Given the description of an element on the screen output the (x, y) to click on. 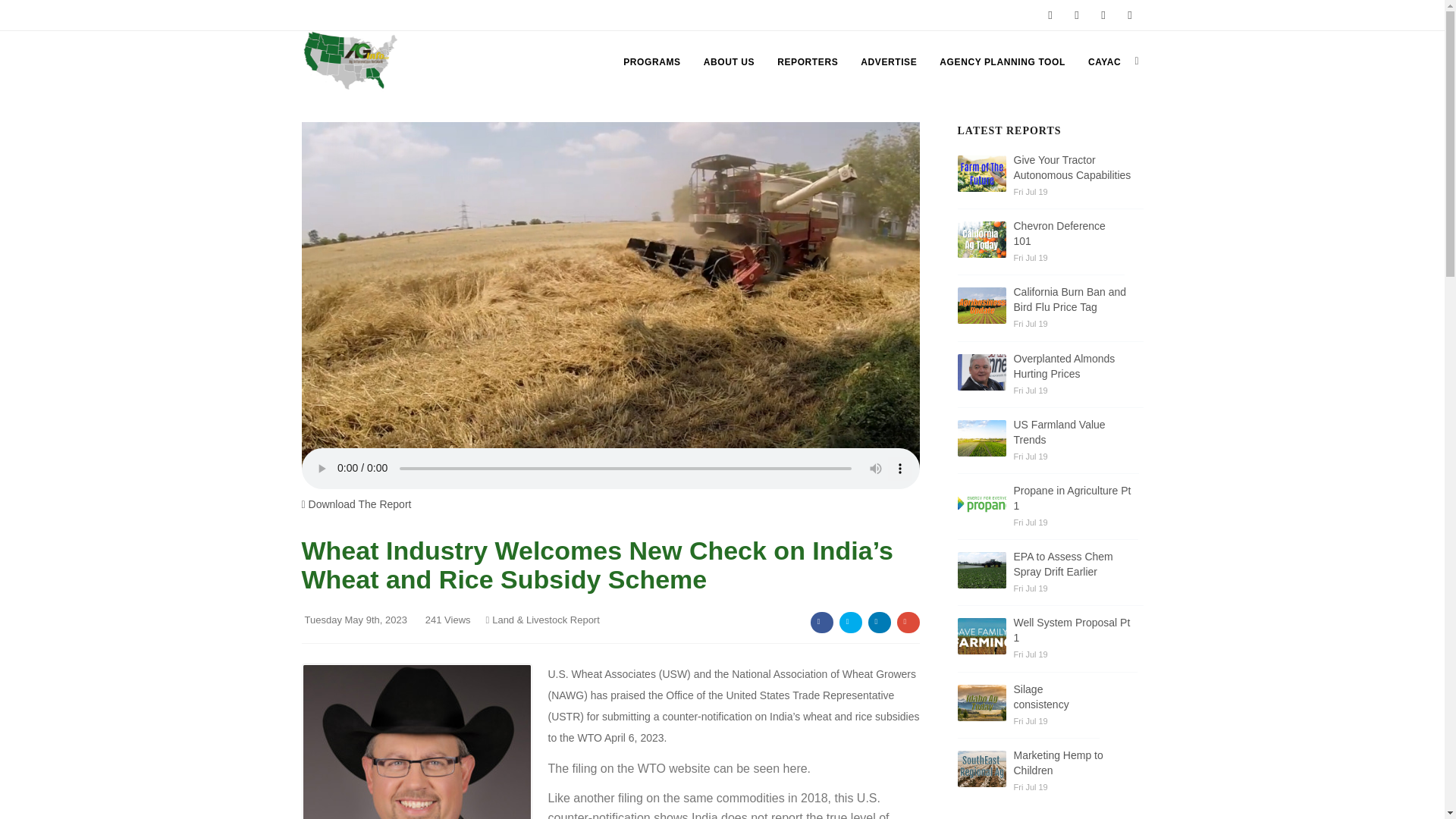
ABOUT US (728, 62)
PROGRAMS (651, 62)
